Given the description of an element on the screen output the (x, y) to click on. 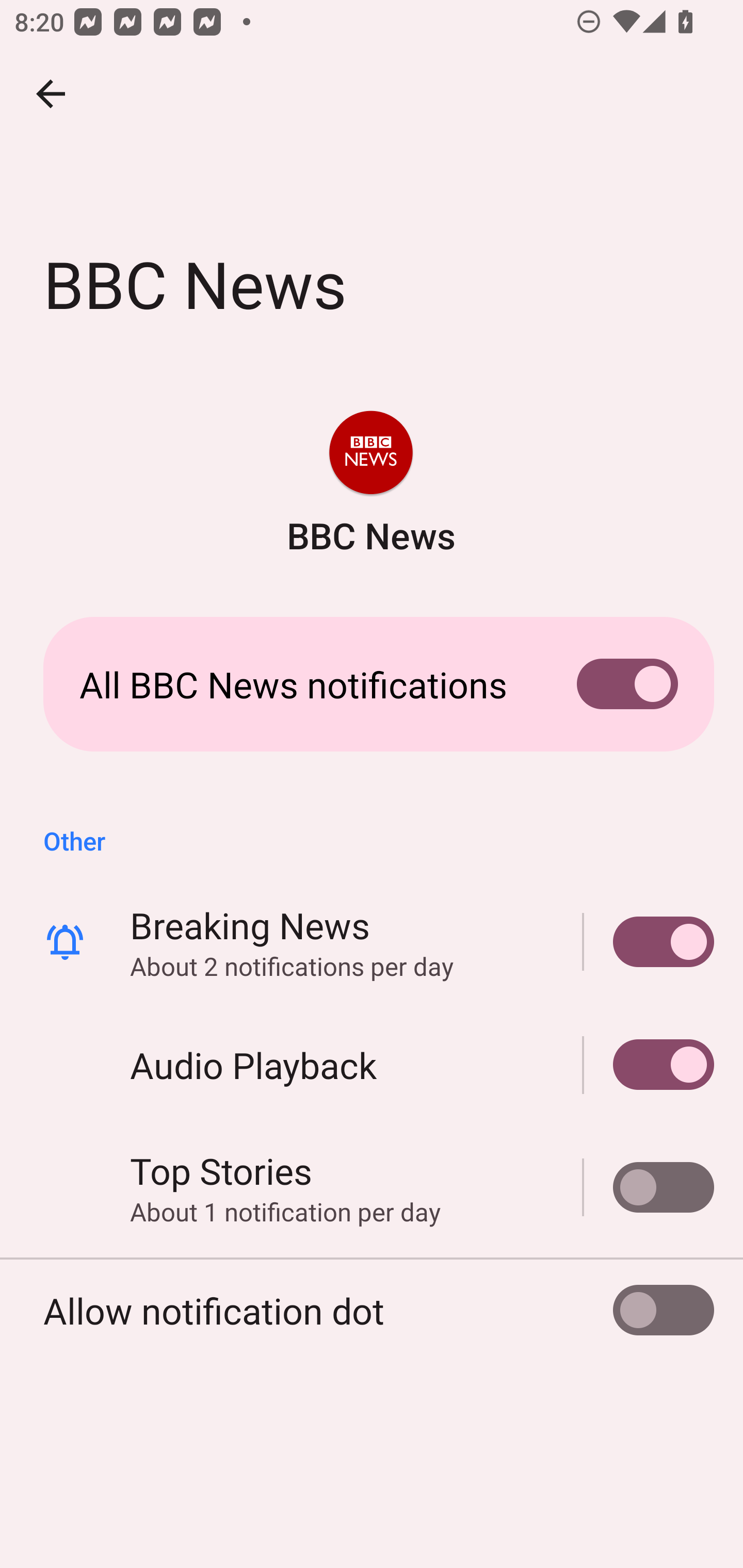
Navigate up (50, 93)
BBC News (370, 484)
All BBC News notifications (371, 684)
Breaking News (648, 941)
Audio Playback (371, 1064)
Audio Playback (648, 1064)
Top Stories (648, 1187)
Allow notification dot (371, 1309)
